Given the description of an element on the screen output the (x, y) to click on. 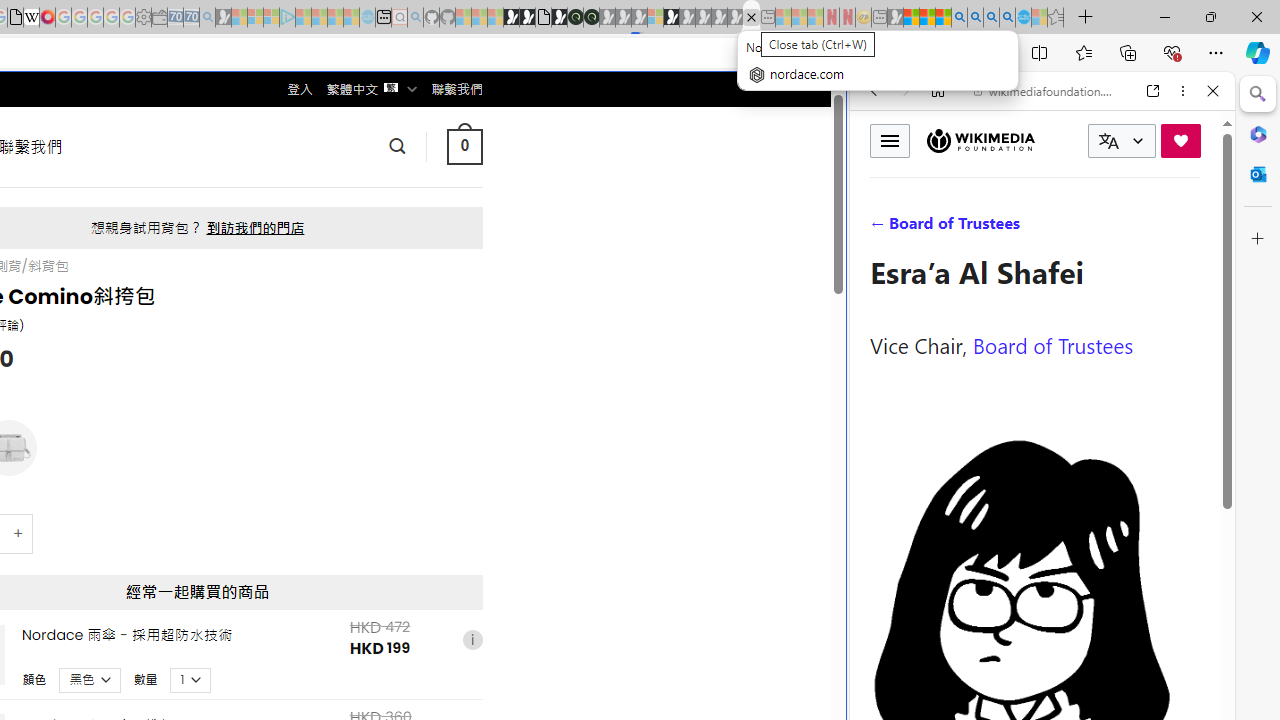
New tab - Sleeping (879, 17)
MSN - Sleeping (895, 17)
Home | Sky Blue Bikes - Sky Blue Bikes (687, 426)
Class: i icon icon-translate language-switcher__icon (1108, 141)
Close (1213, 91)
Search Filter, Search Tools (1093, 228)
 0  (464, 146)
Home | Sky Blue Bikes - Sky Blue Bikes - Sleeping (367, 17)
VIDEOS (1006, 228)
Bing Real Estate - Home sales and rental listings - Sleeping (207, 17)
